Given the description of an element on the screen output the (x, y) to click on. 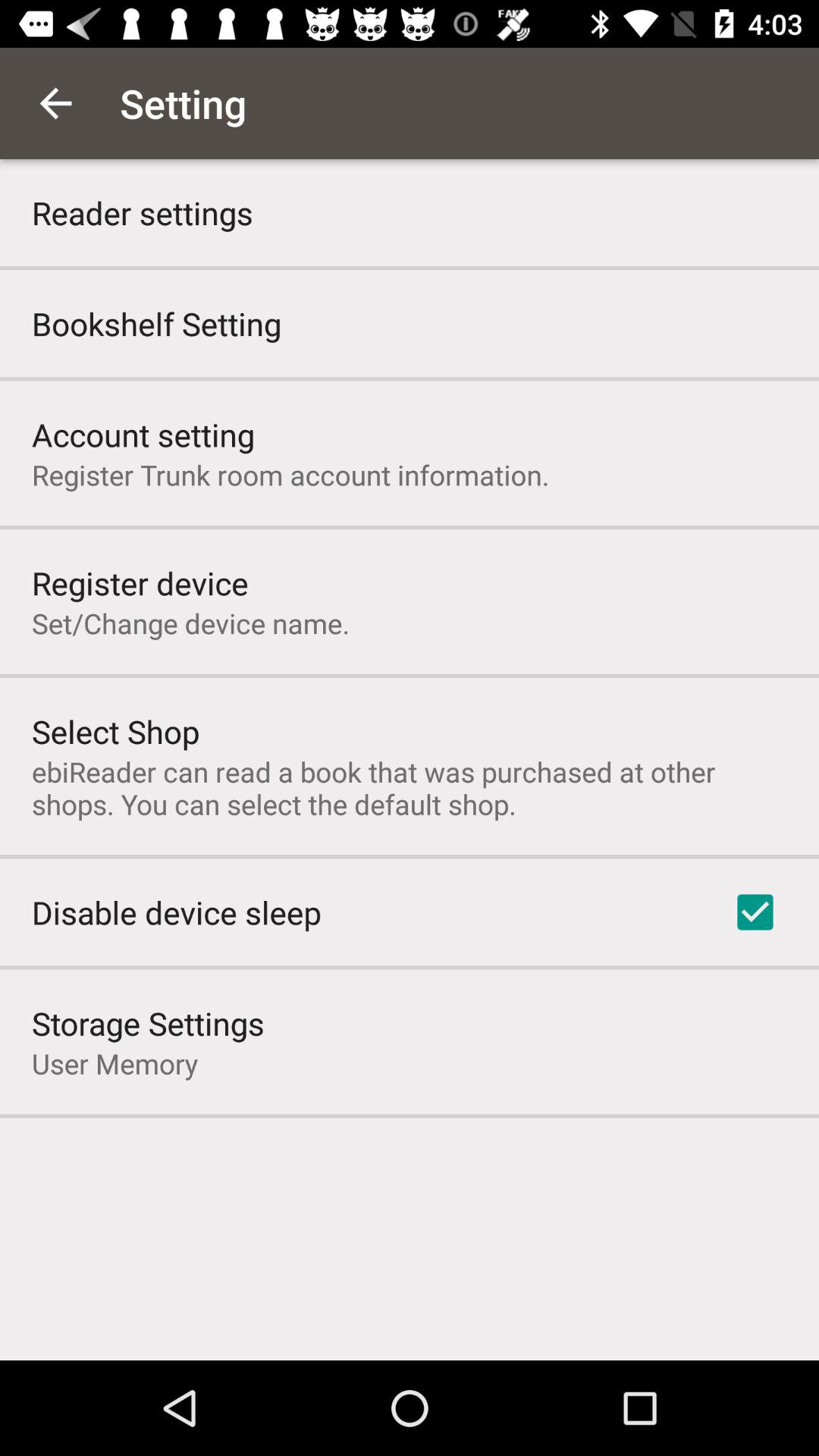
turn on the icon on the right (755, 912)
